Given the description of an element on the screen output the (x, y) to click on. 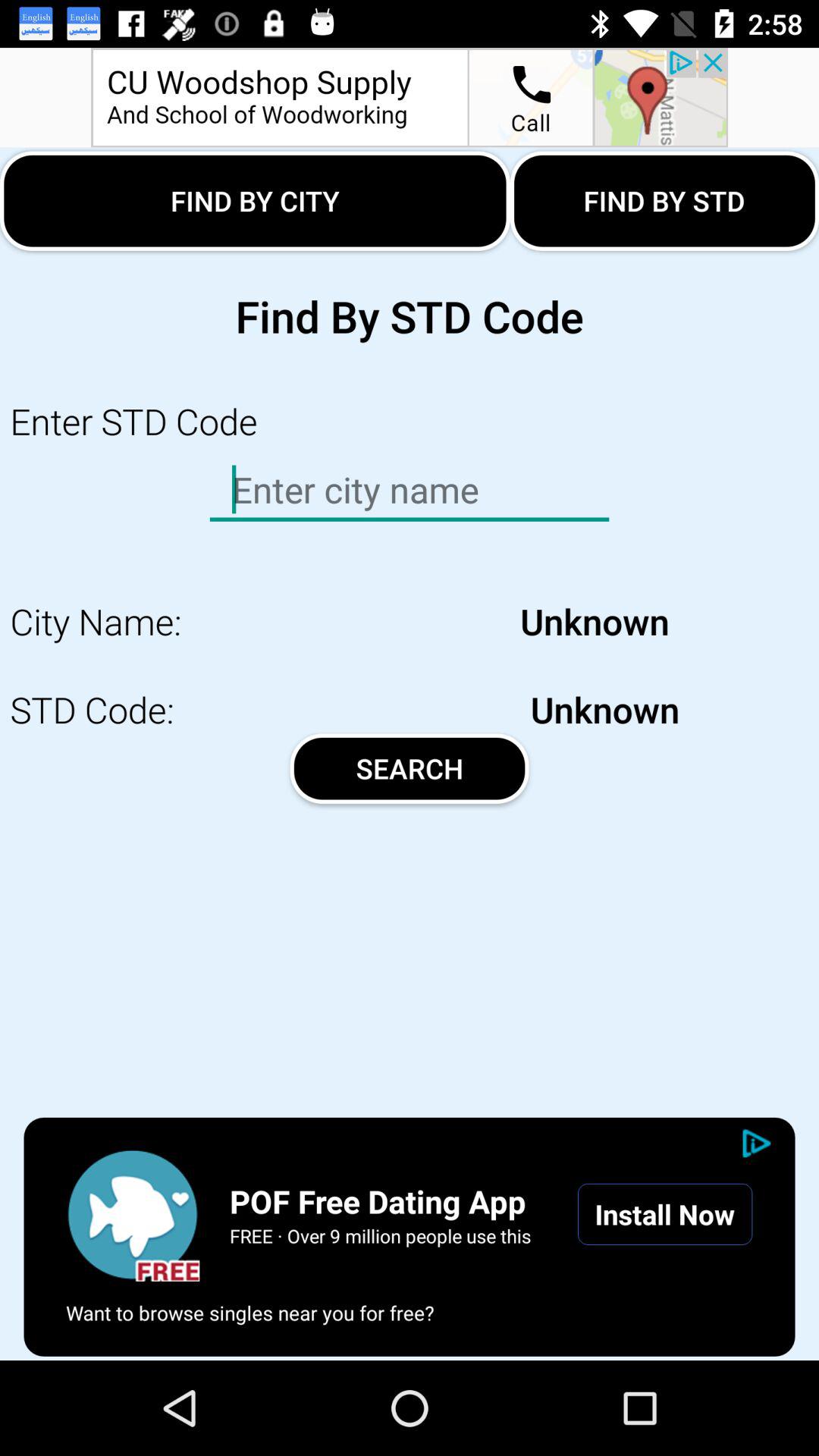
enter city name (132, 1214)
